Given the description of an element on the screen output the (x, y) to click on. 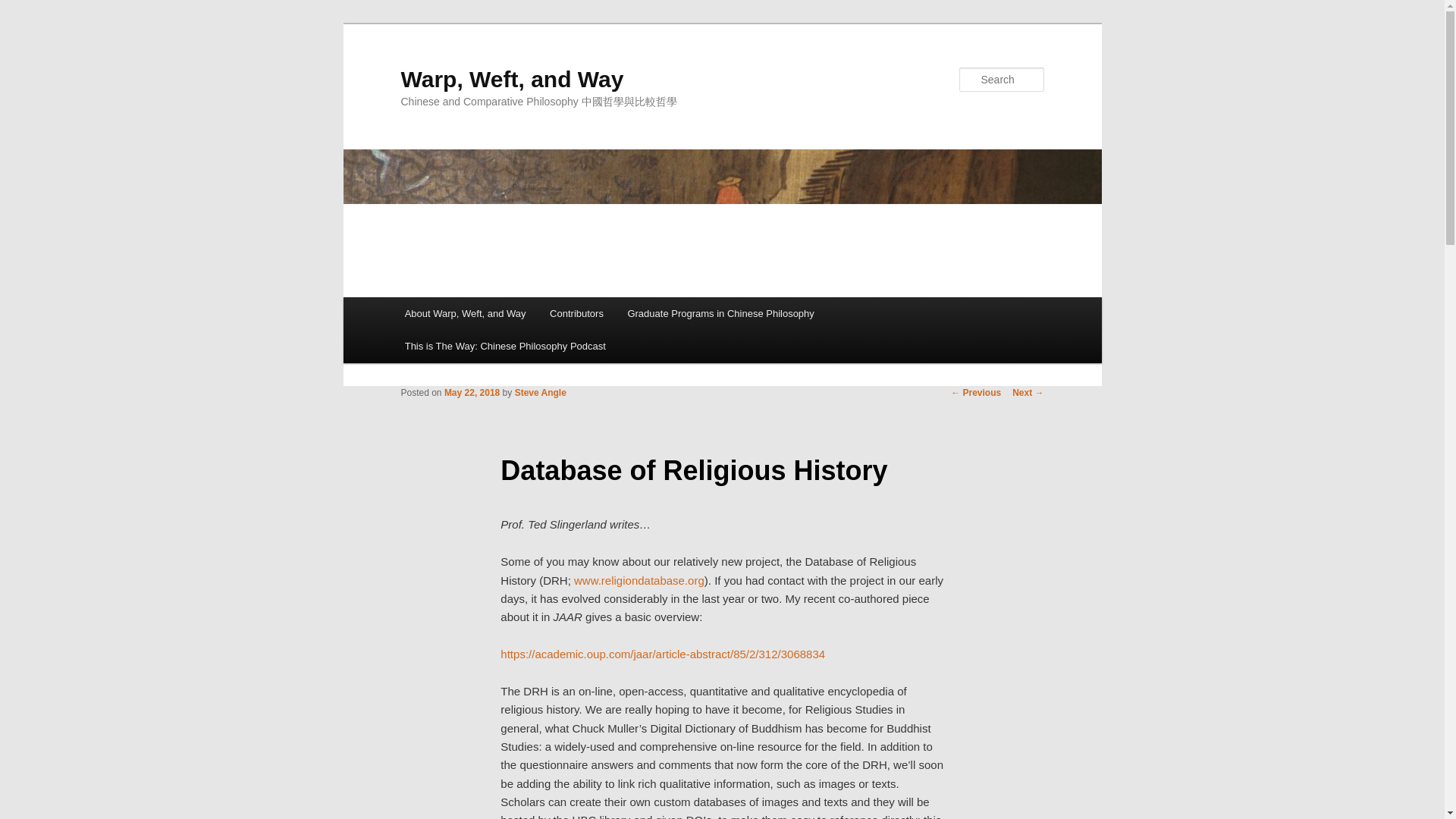
About Warp, Weft, and Way (465, 313)
9:24 am (471, 392)
Search (24, 8)
May 22, 2018 (471, 392)
www.religiondatabase.org (638, 580)
Warp, Weft, and Way (511, 78)
Graduate Programs in Chinese Philosophy (721, 313)
Contributors (575, 313)
This is The Way: Chinese Philosophy Podcast (505, 346)
Steve Angle (540, 392)
View all posts by Steve Angle (540, 392)
